Given the description of an element on the screen output the (x, y) to click on. 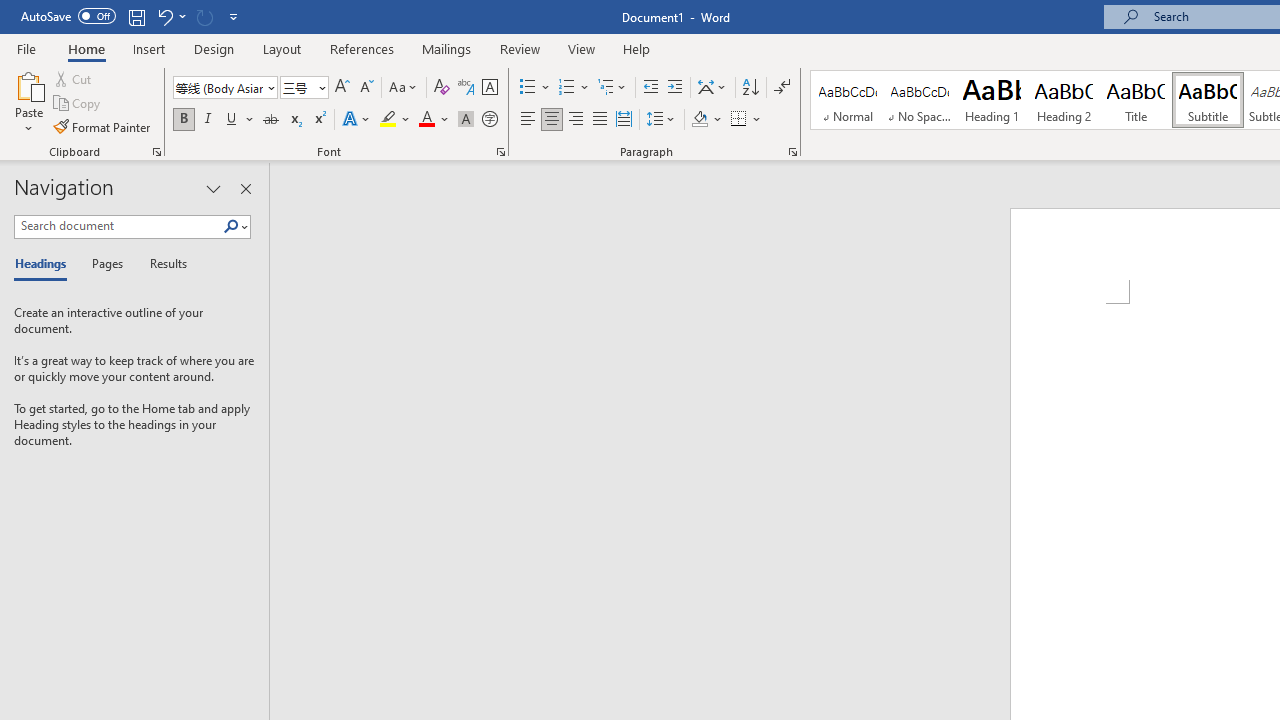
Can't Repeat (204, 15)
